Given the description of an element on the screen output the (x, y) to click on. 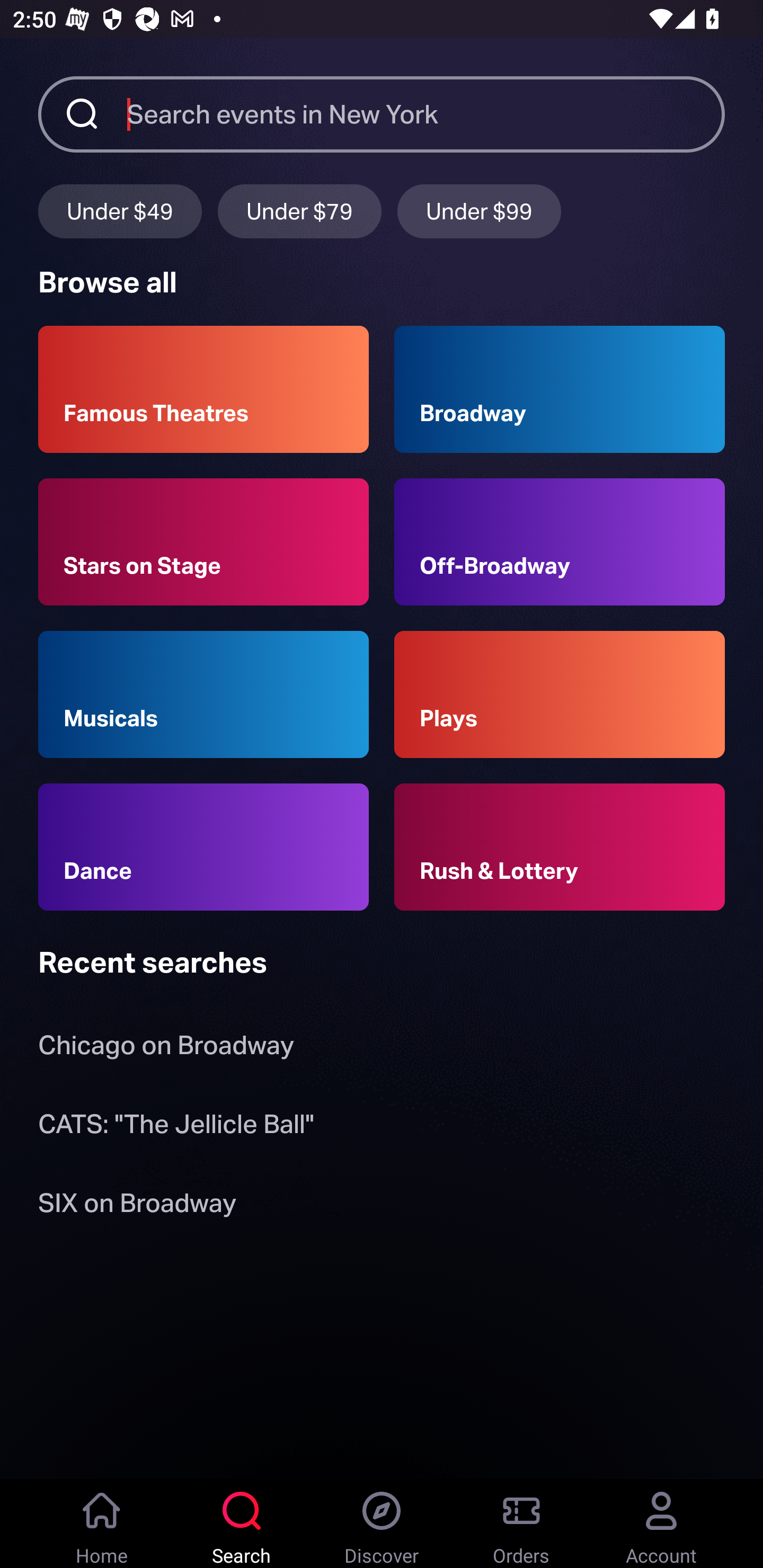
Search events in New York (425, 113)
Under $49 (120, 211)
Under $79 (299, 211)
Under $99 (478, 211)
Famous Theatres (203, 389)
Broadway (559, 389)
Stars on Stage (203, 541)
Off-Broadway (559, 541)
Musicals (203, 693)
Plays (559, 693)
Dance (203, 847)
Rush & Lottery (559, 847)
Chicago on Broadway (165, 1048)
CATS: "The Jellicle Ball" (176, 1127)
SIX on Broadway (137, 1205)
Home (101, 1523)
Discover (381, 1523)
Orders (521, 1523)
Account (660, 1523)
